Given the description of an element on the screen output the (x, y) to click on. 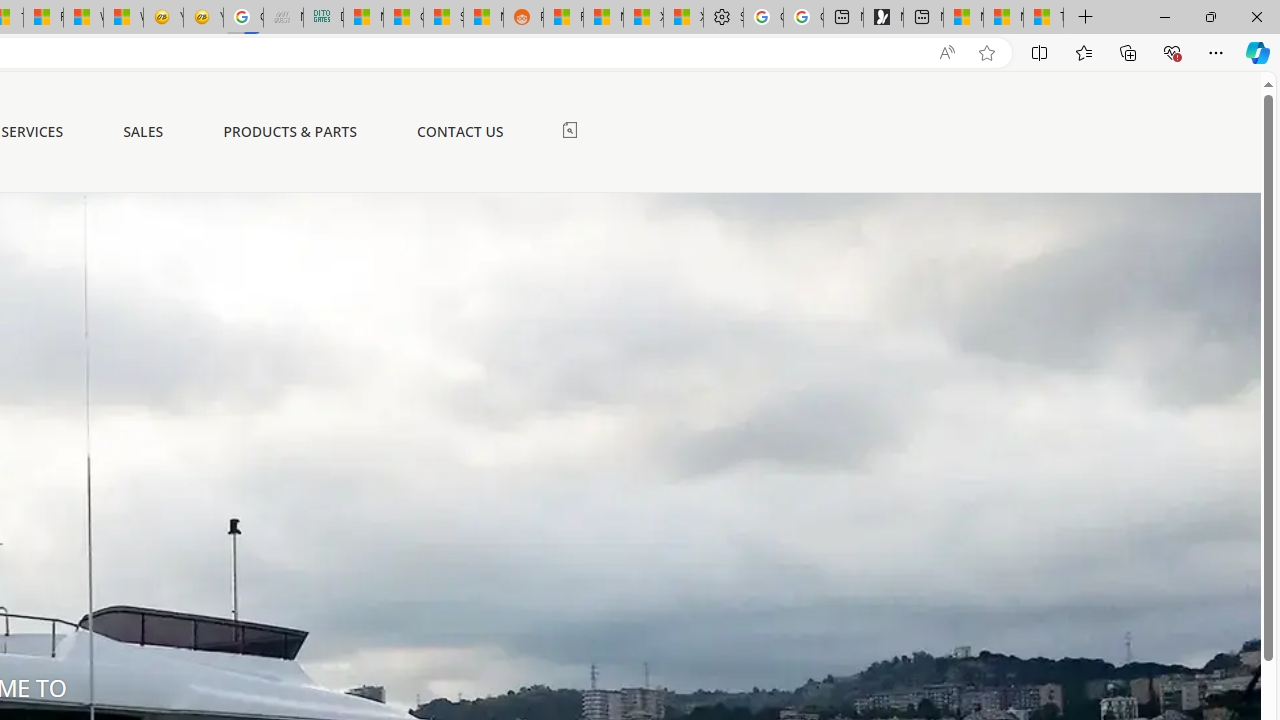
These 3 Stocks Pay You More Than 5% to Own Them (1043, 17)
Navy Quest (283, 17)
CONTACT US (459, 132)
Stocks - MSN (443, 17)
R******* | Trusted Community Engagement and Contributions (563, 17)
DITOGAMES AG Imprint (323, 17)
